Given the description of an element on the screen output the (x, y) to click on. 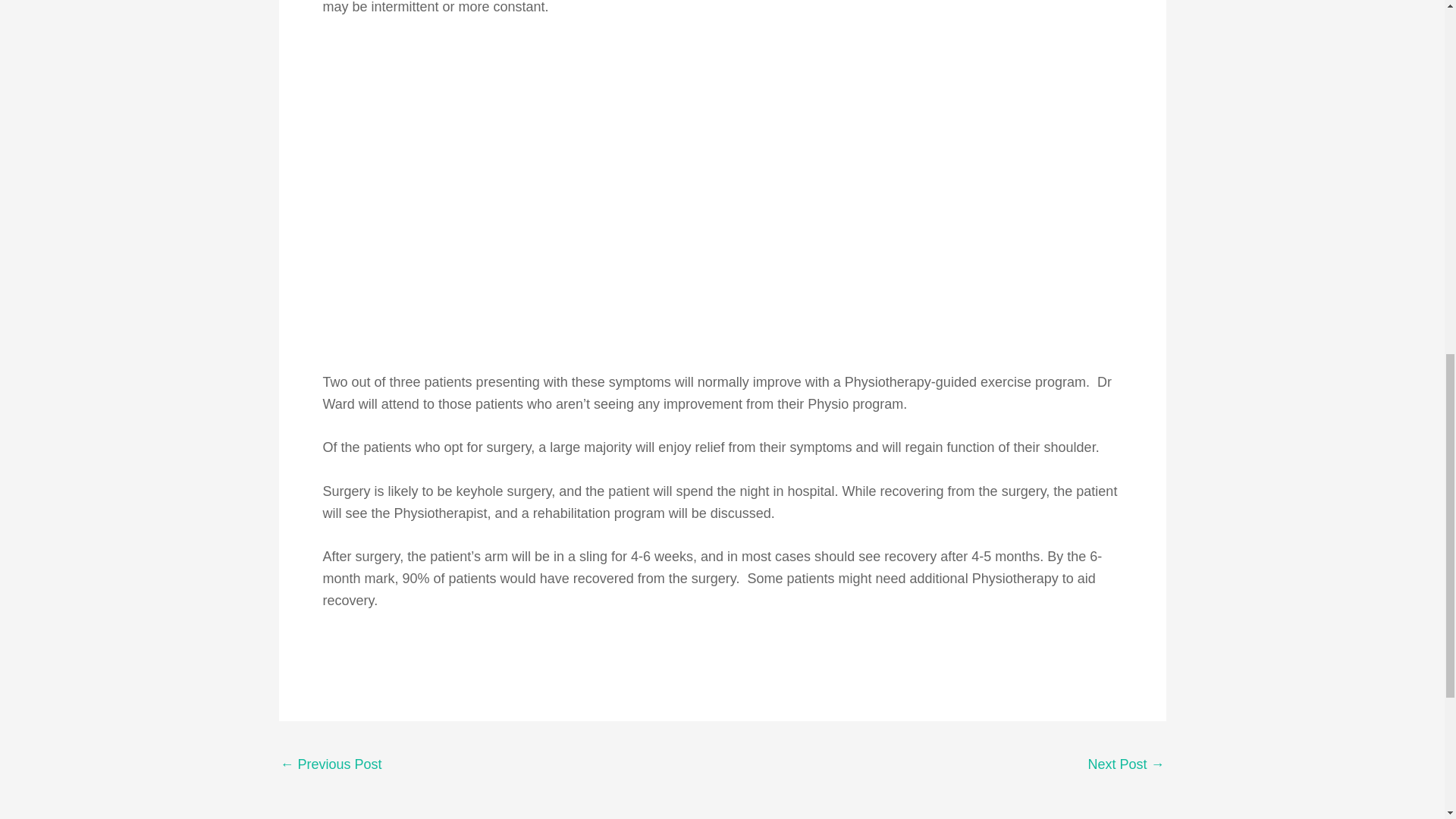
When might a partial knee replacement be an option? (331, 766)
Dr Jason Ward - Orthopaedic Surgeon (1125, 766)
